Given the description of an element on the screen output the (x, y) to click on. 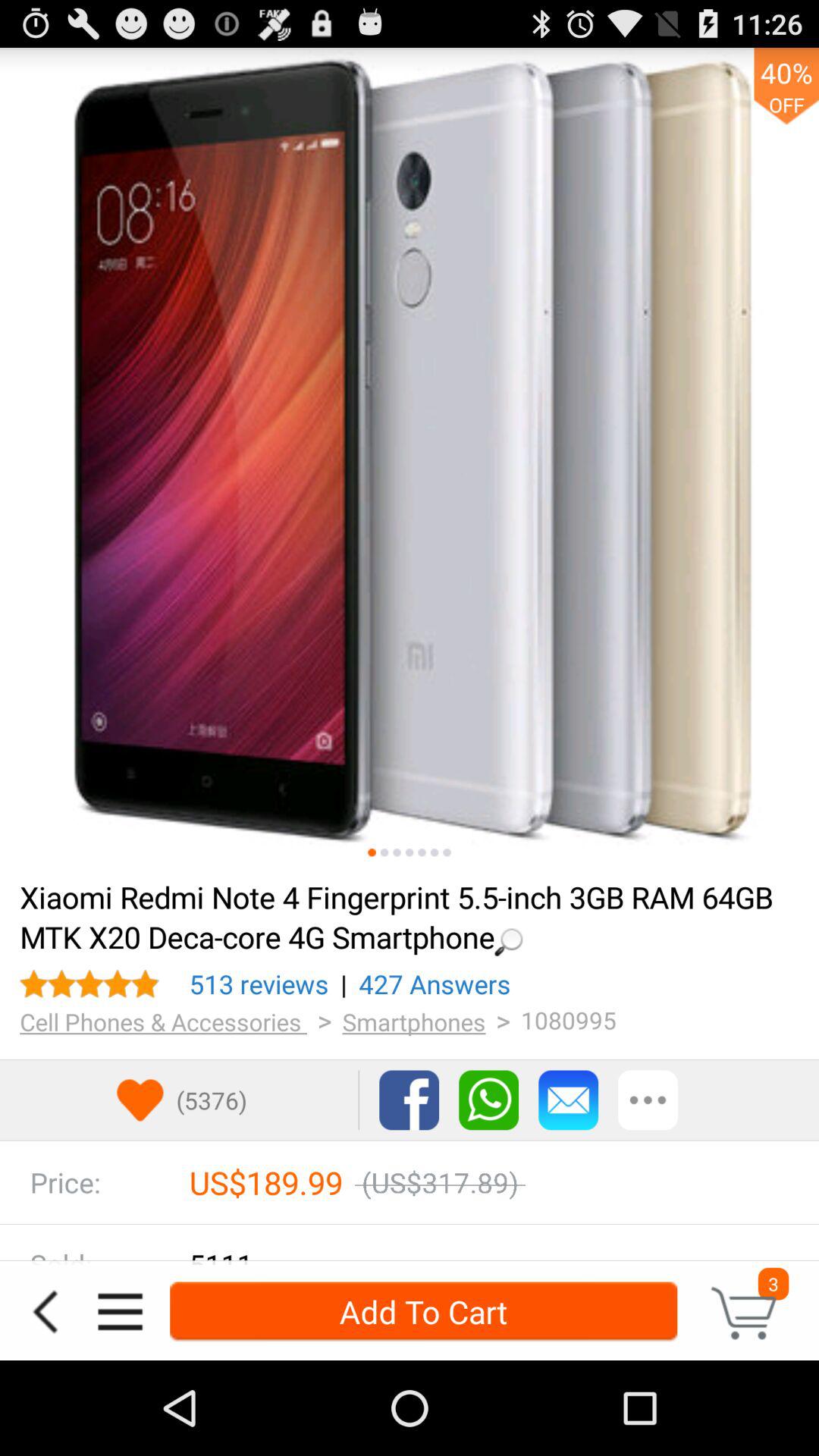
click the icon to the left of | icon (258, 983)
